Given the description of an element on the screen output the (x, y) to click on. 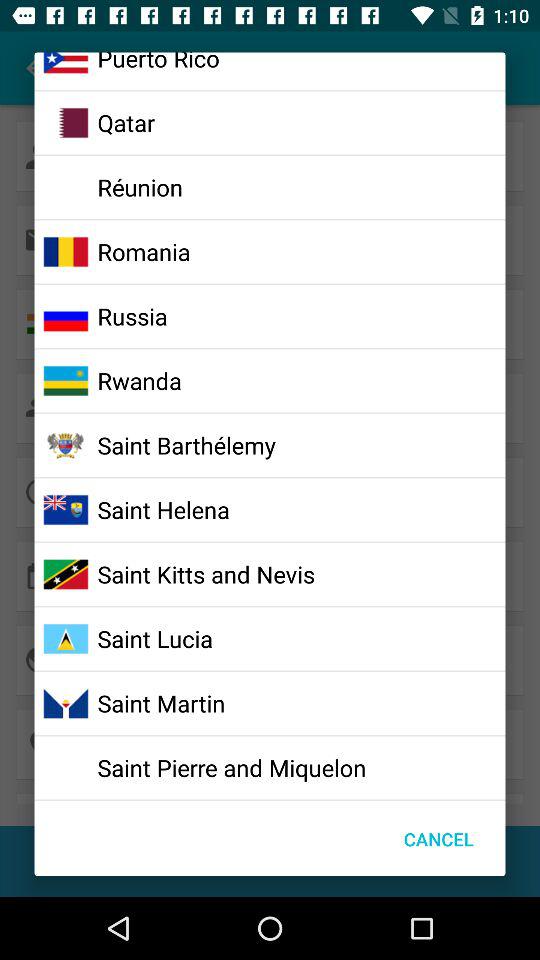
scroll to the saint martin item (161, 703)
